Given the description of an element on the screen output the (x, y) to click on. 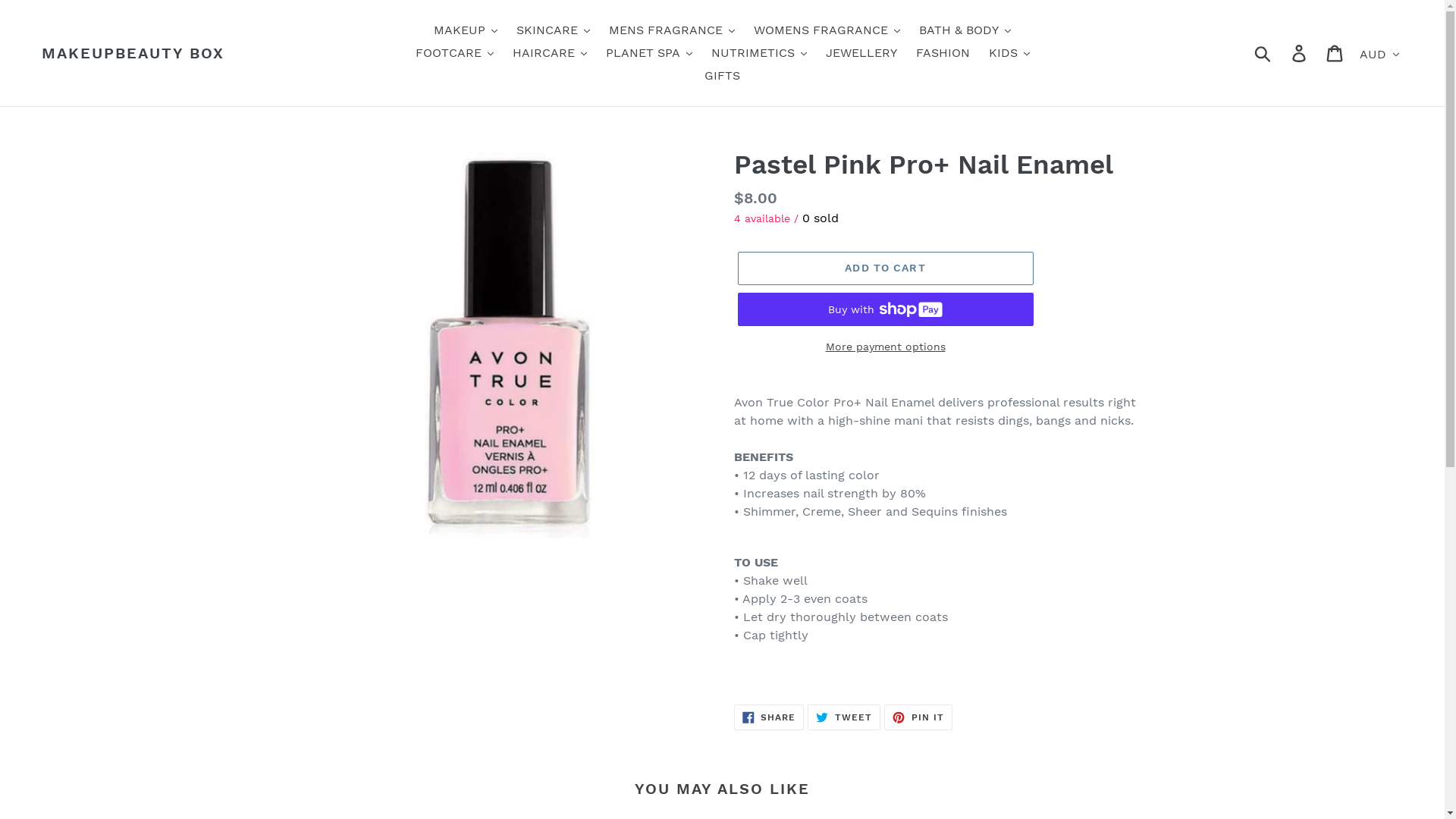
FASHION Element type: text (942, 52)
More payment options Element type: text (884, 346)
PIN IT
PIN ON PINTEREST Element type: text (918, 717)
JEWELLERY Element type: text (860, 52)
GIFTS Element type: text (721, 75)
SHARE
SHARE ON FACEBOOK Element type: text (769, 717)
TWEET
TWEET ON TWITTER Element type: text (843, 717)
Submit Element type: text (1263, 52)
Log in Element type: text (1299, 53)
Cart Element type: text (1335, 53)
ADD TO CART Element type: text (884, 268)
